Given the description of an element on the screen output the (x, y) to click on. 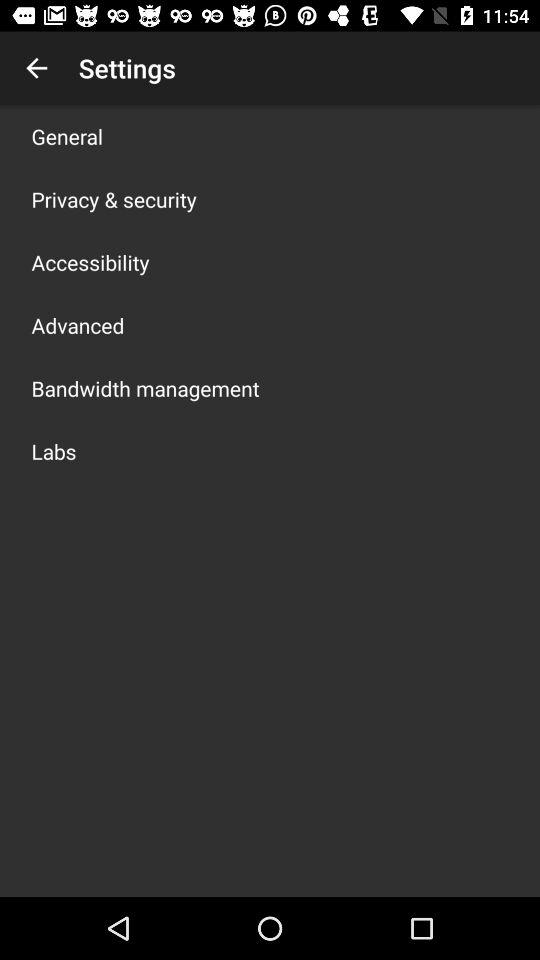
flip to general icon (67, 136)
